Given the description of an element on the screen output the (x, y) to click on. 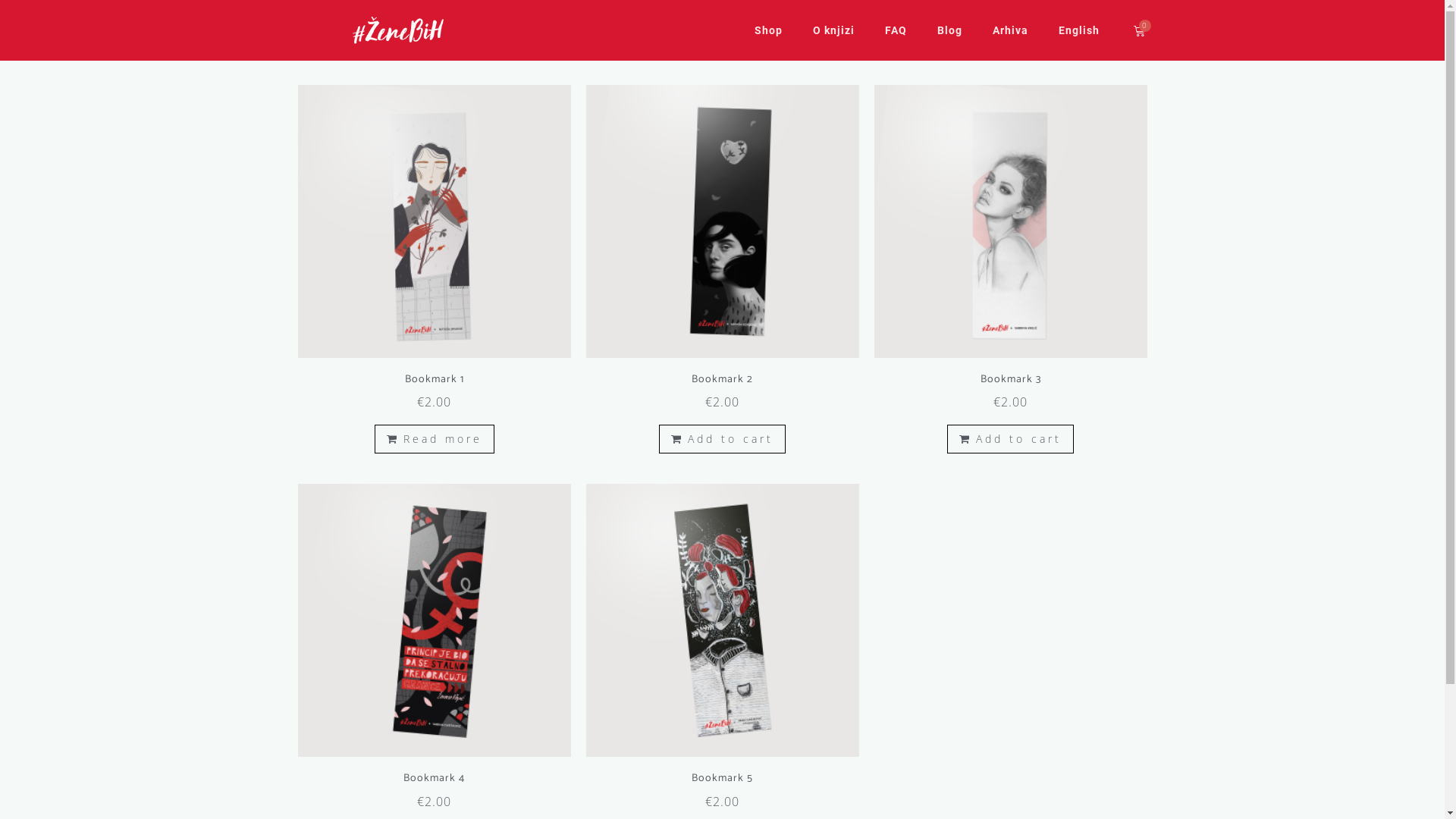
FAQ Element type: text (895, 29)
Add to cart Element type: text (1010, 439)
Arhiva Element type: text (1009, 29)
Add to cart Element type: text (721, 439)
English Element type: text (1078, 29)
Read more Element type: text (434, 439)
Blog Element type: text (949, 29)
Shop Element type: text (767, 29)
O knjizi Element type: text (833, 29)
